Given the description of an element on the screen output the (x, y) to click on. 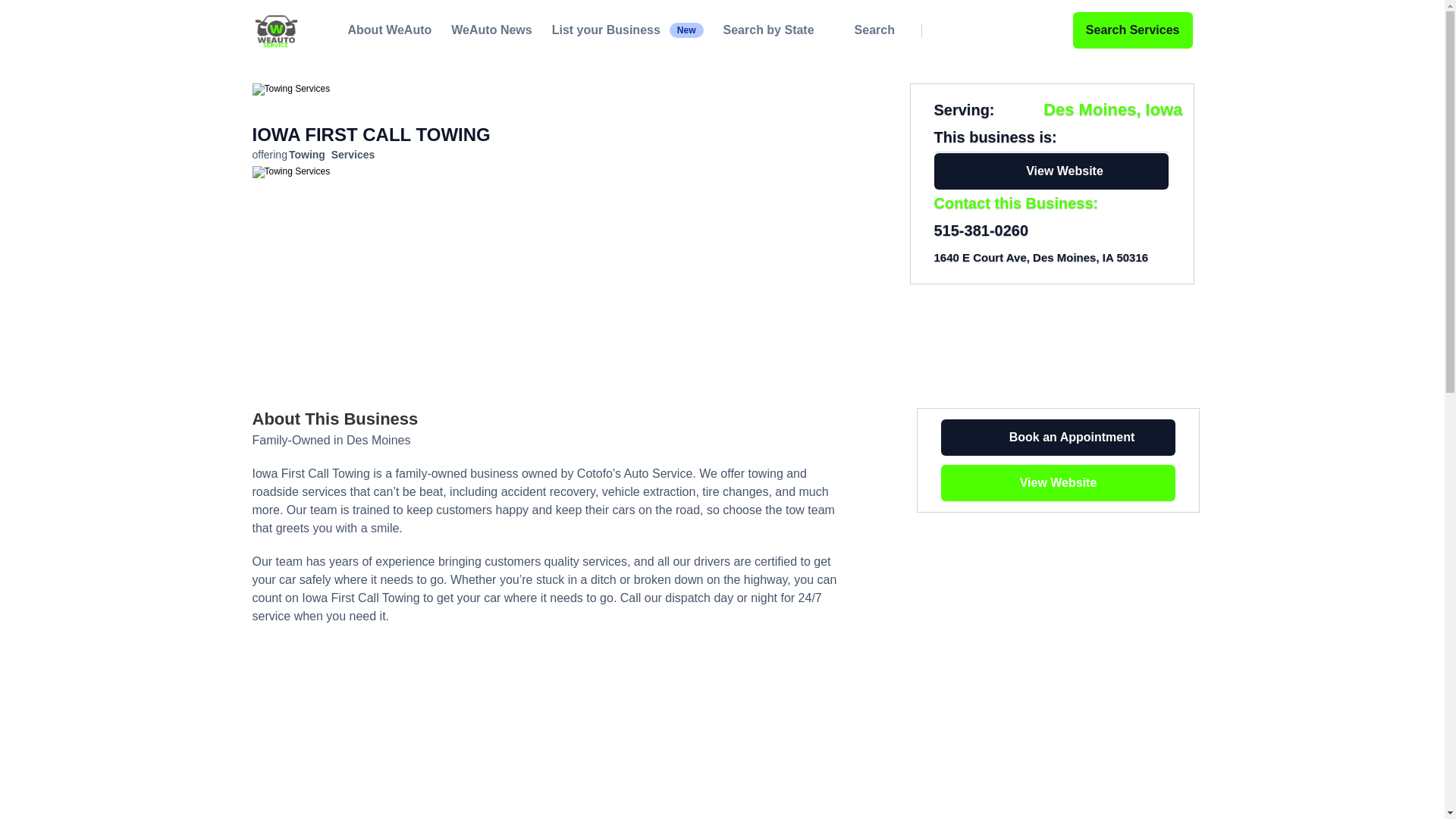
Search Services (1132, 30)
View Website (1051, 171)
Book an Appointment (1057, 437)
WeAuto News (627, 30)
Search by State (491, 30)
About WeAuto (768, 30)
View Website (388, 30)
